Given the description of an element on the screen output the (x, y) to click on. 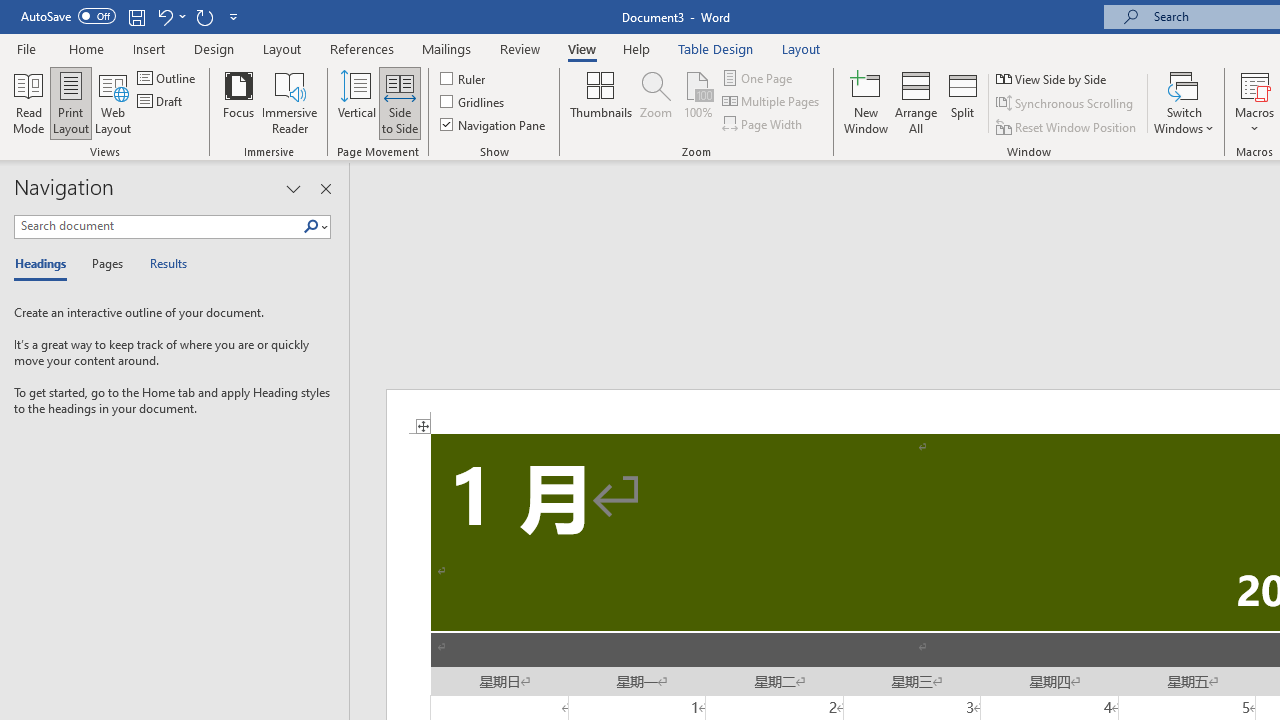
Synchronous Scrolling (1066, 103)
Vertical (356, 102)
Navigation Pane (493, 124)
Arrange All (916, 102)
Outline (168, 78)
Gridlines (473, 101)
